Given the description of an element on the screen output the (x, y) to click on. 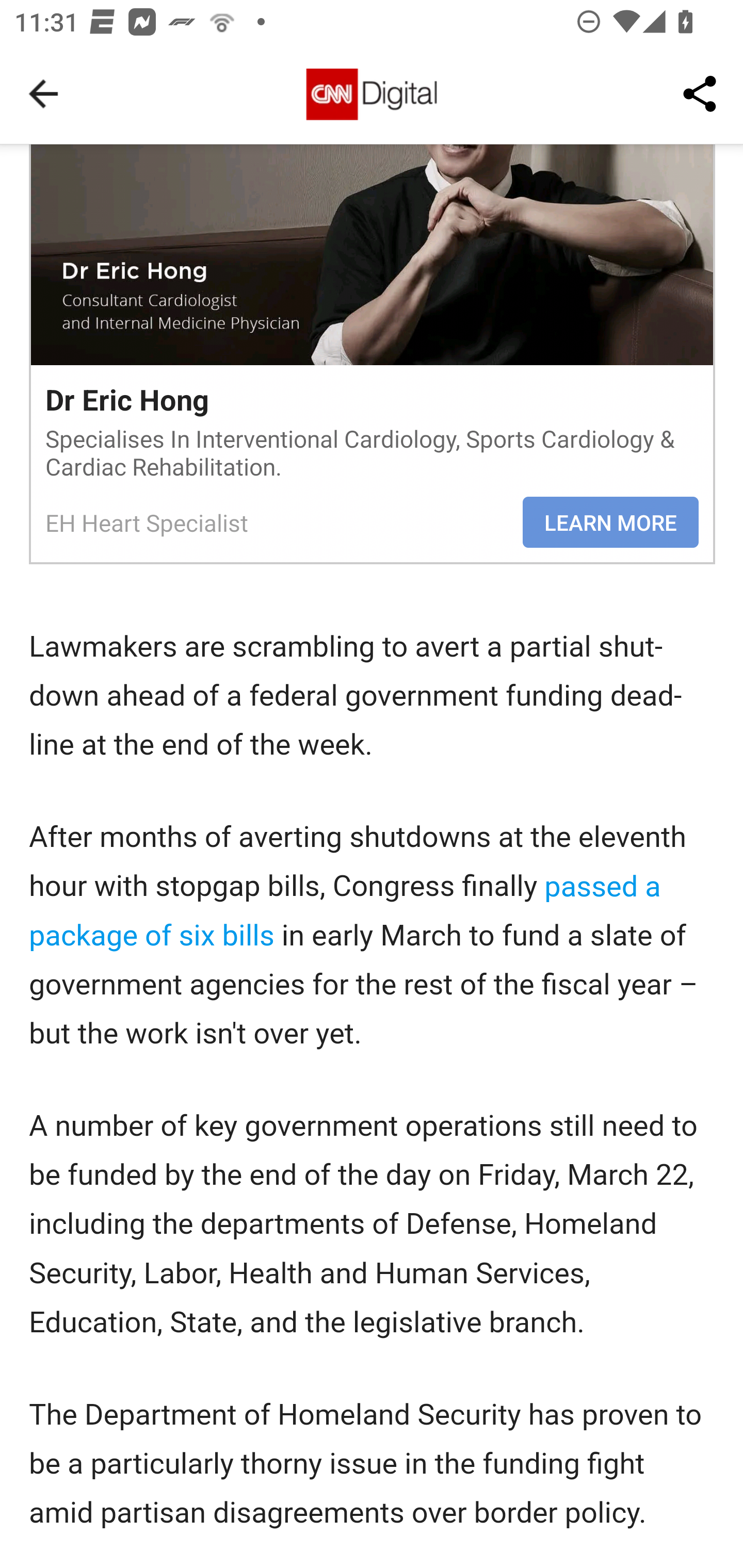
passed a package of six bills (345, 910)
